Given the description of an element on the screen output the (x, y) to click on. 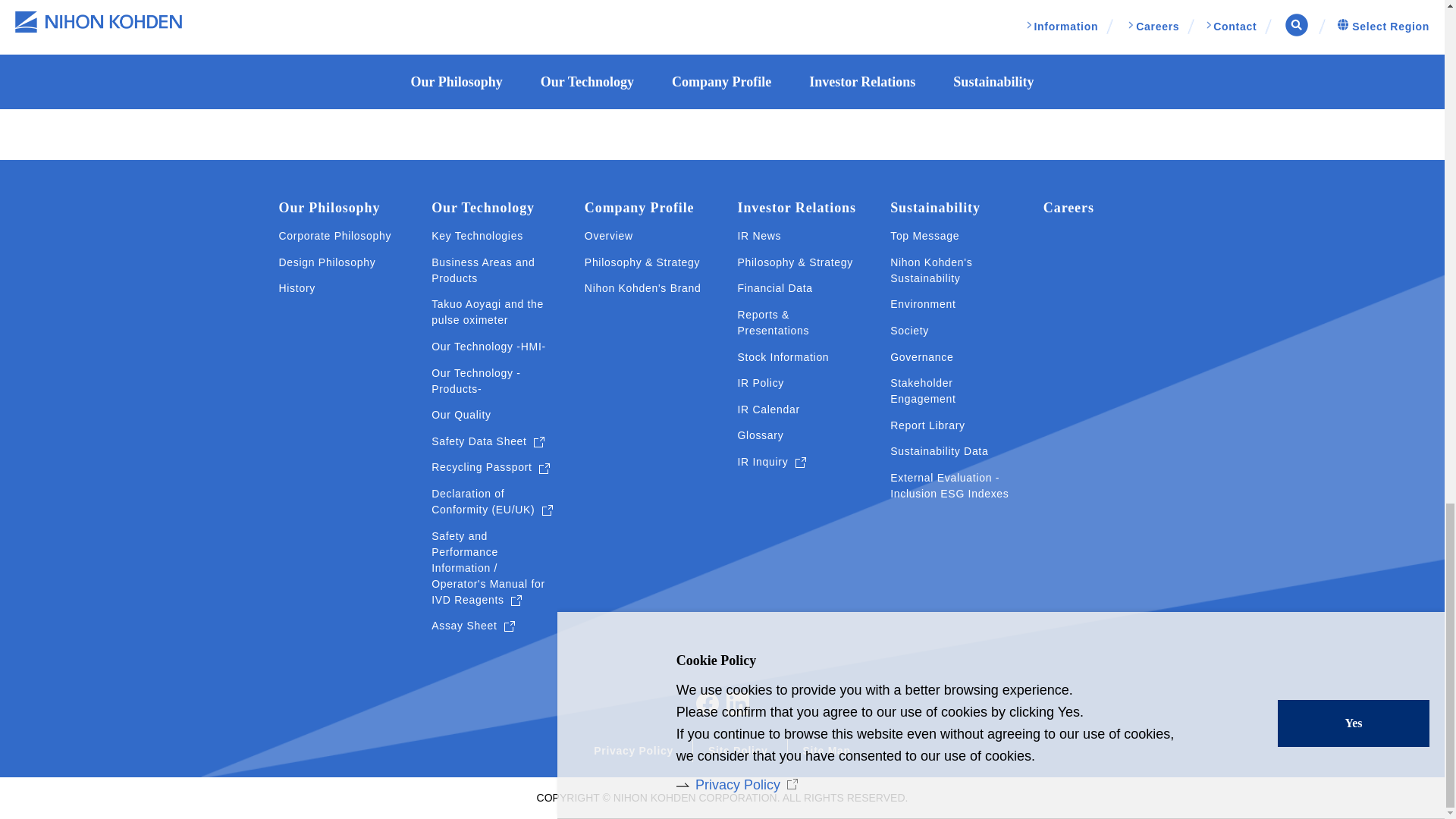
Recycling Passport (490, 467)
Our Technology -HMI- (488, 346)
VIEW ALL (722, 45)
Safety Data Sheet (487, 441)
Our Technology -Products- (492, 381)
Our Quality (461, 415)
History (297, 288)
Our Technology (482, 208)
Assay Sheet (472, 625)
Our Philosophy (329, 208)
Corporate Philosophy (335, 236)
Key Technologies (476, 236)
Takuo Aoyagi and the pulse oximeter (492, 312)
Design Philosophy (327, 262)
Business Areas and Products (492, 270)
